Given the description of an element on the screen output the (x, y) to click on. 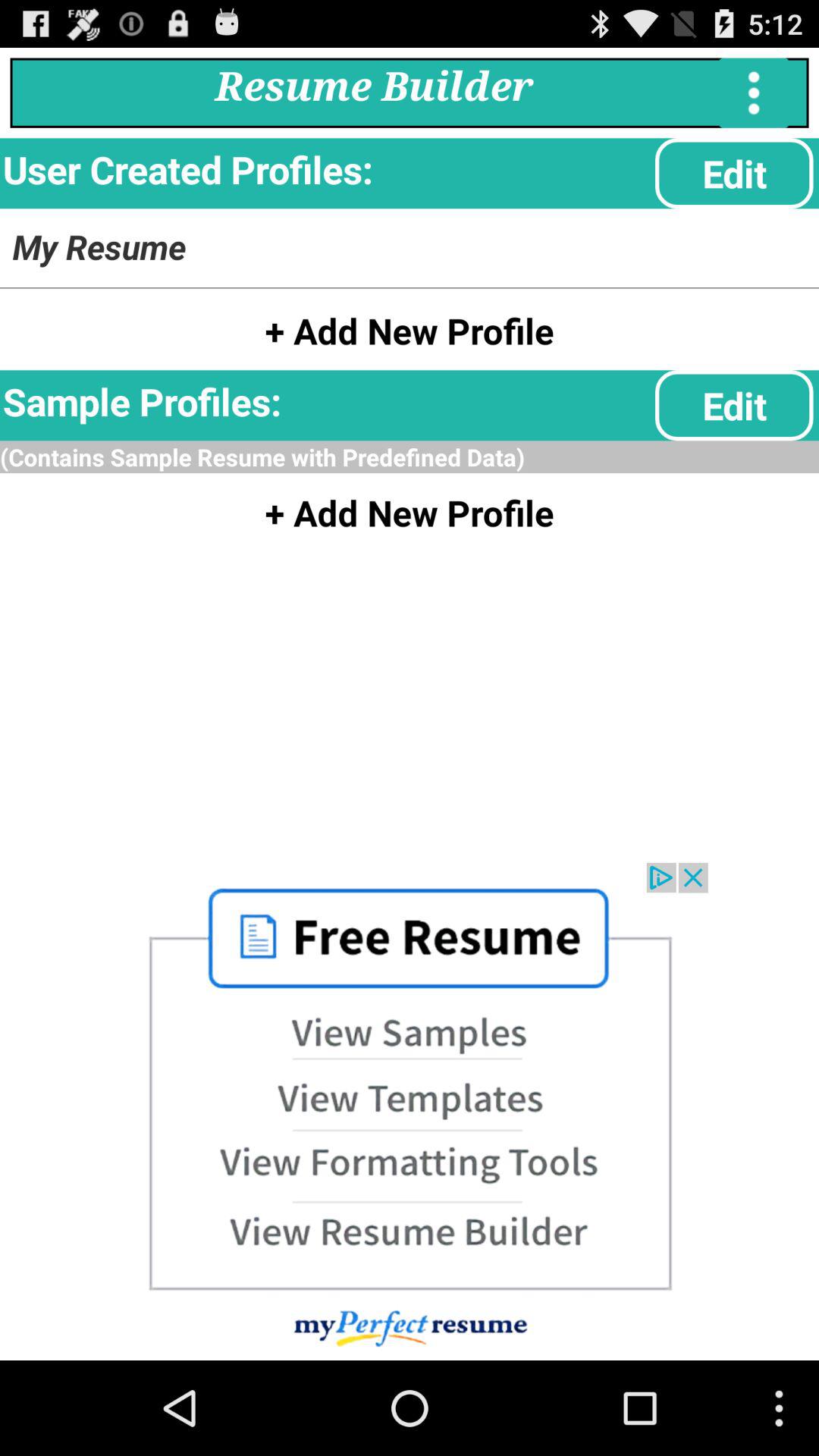
open advertisement (409, 1111)
